Given the description of an element on the screen output the (x, y) to click on. 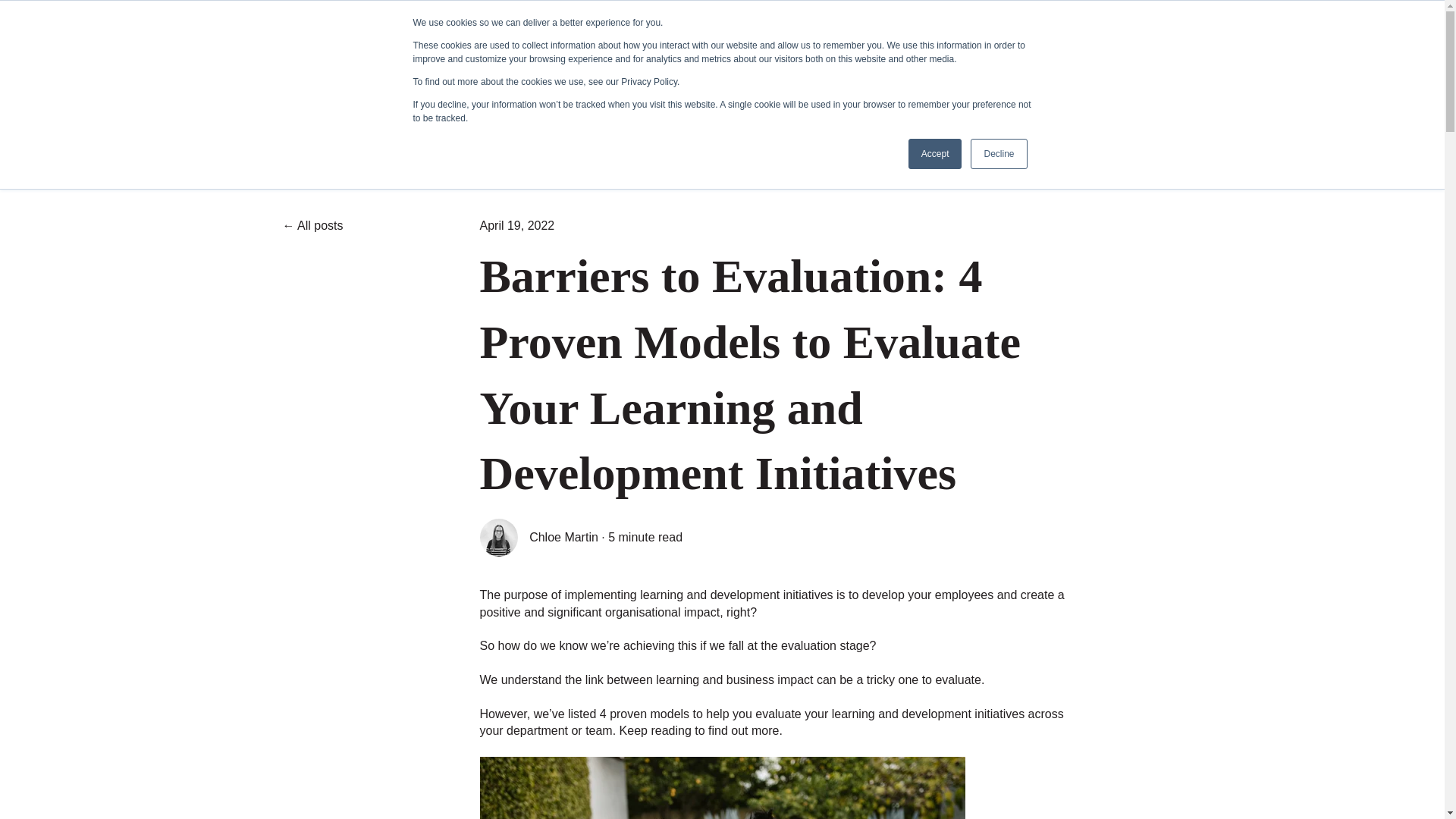
Resources (930, 62)
Courses (600, 62)
About us (526, 62)
Accept (935, 153)
Decline (998, 153)
Show submenu for Resources (967, 62)
Handbooks (844, 62)
In-House (675, 62)
Contact us (757, 62)
